Given the description of an element on the screen output the (x, y) to click on. 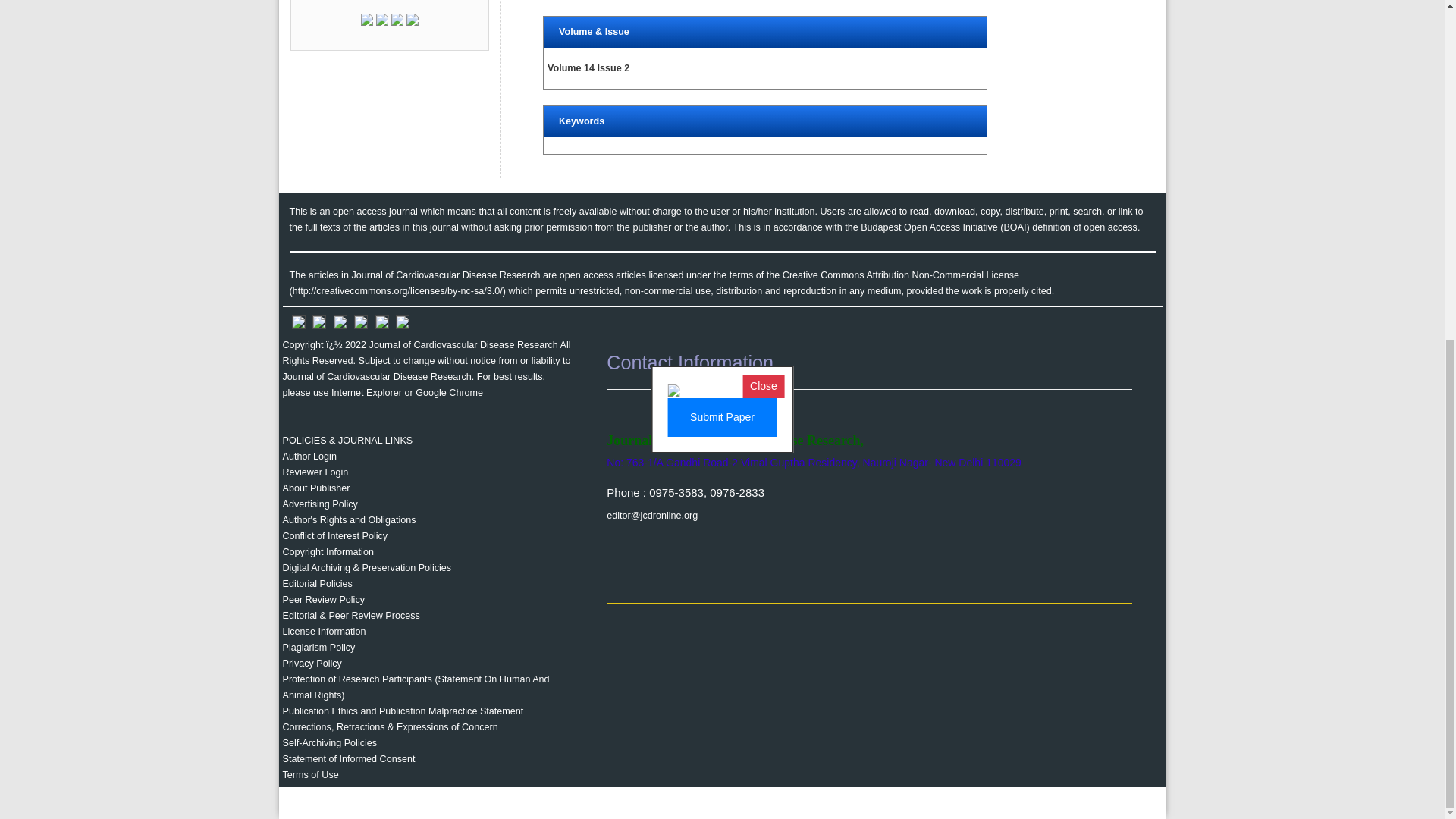
Editorial Policies (317, 583)
Author Login (309, 456)
Reviewer Login (314, 471)
About Publisher (315, 488)
Copyright Information (327, 552)
Conflict of Interest Policy (334, 535)
Peer Review Policy (323, 599)
License Information (323, 631)
Advertising Policy (319, 503)
Author's Rights and Obligations (348, 520)
